Given the description of an element on the screen output the (x, y) to click on. 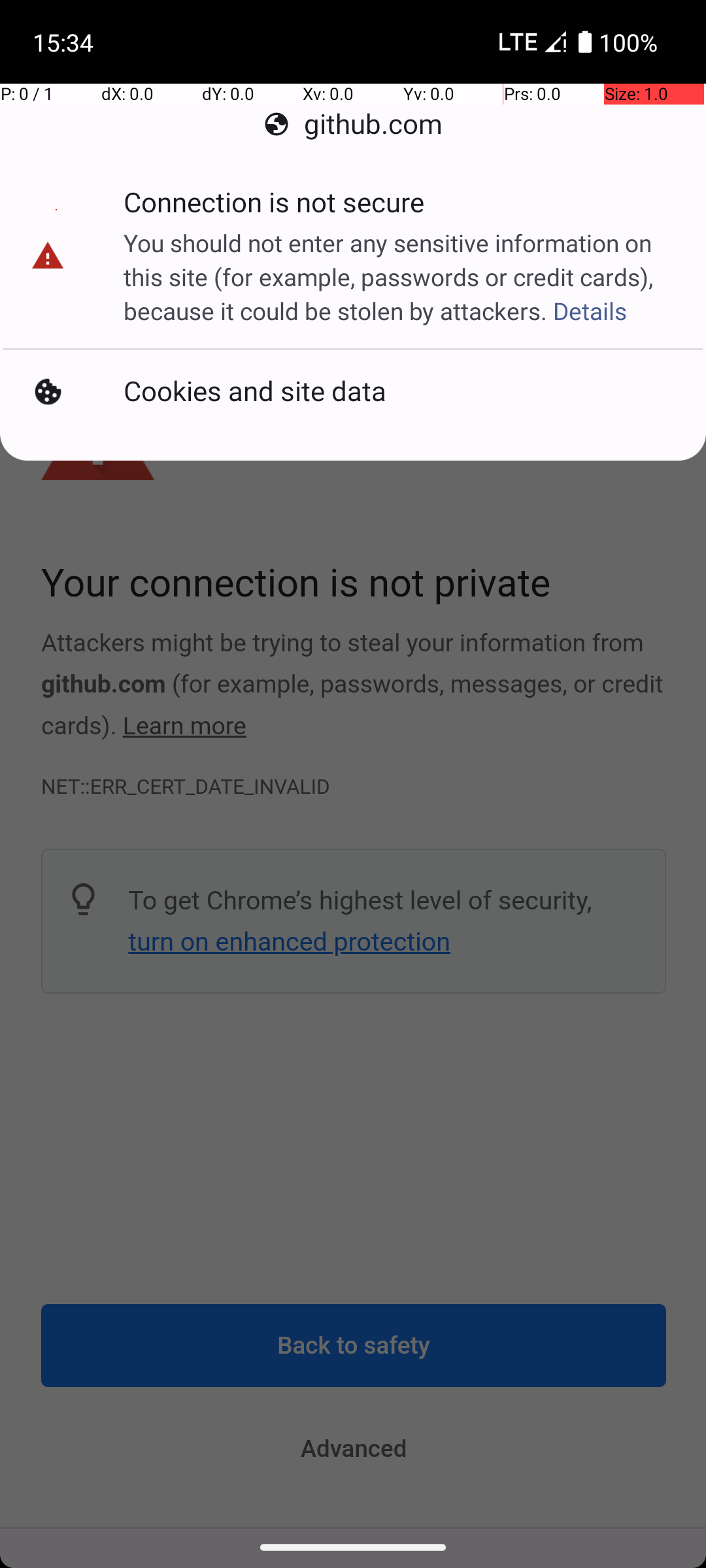
github.com Element type: android.widget.TextView (352, 124)
